Given the description of an element on the screen output the (x, y) to click on. 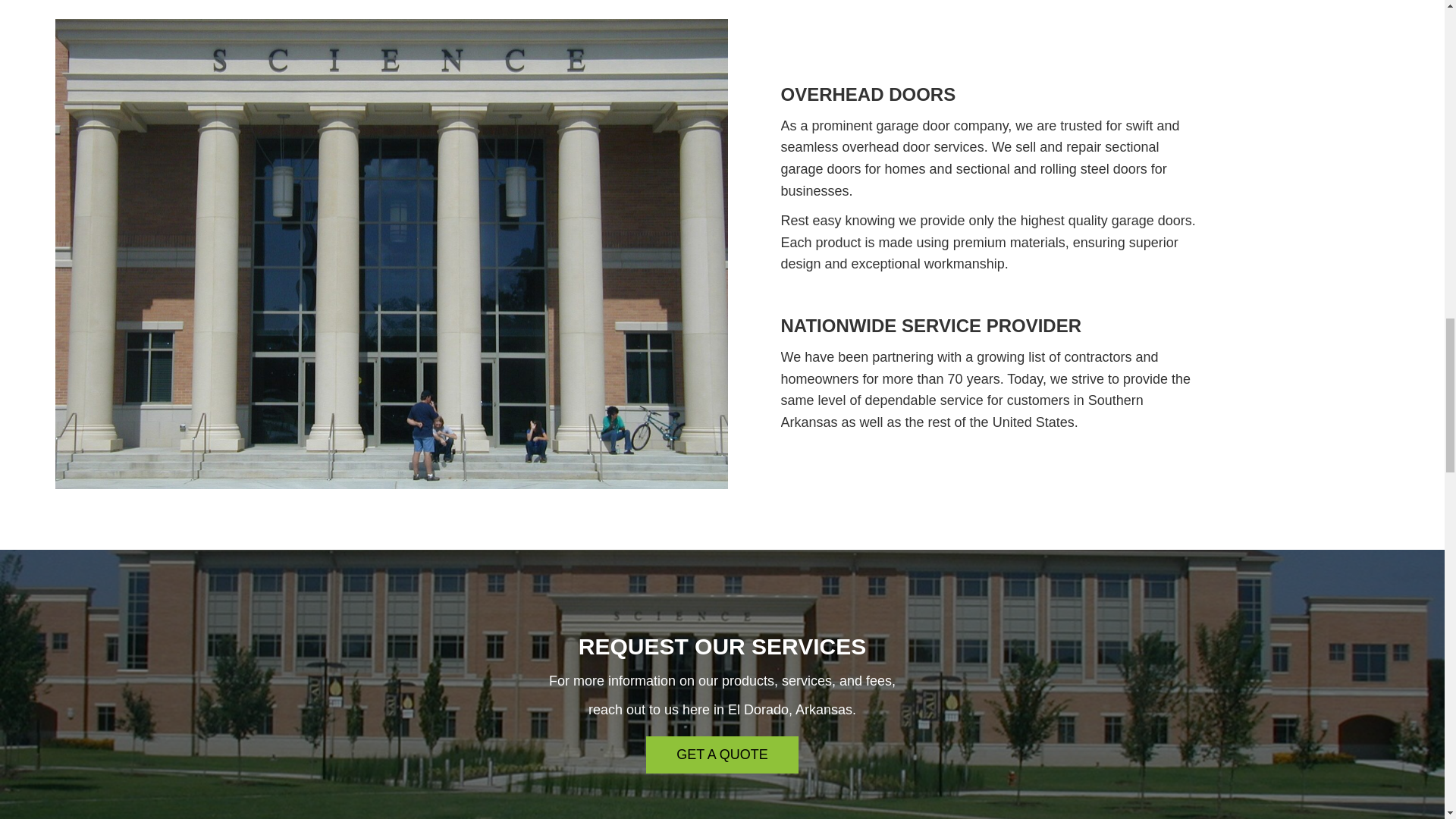
GET A QUOTE (721, 754)
